Given the description of an element on the screen output the (x, y) to click on. 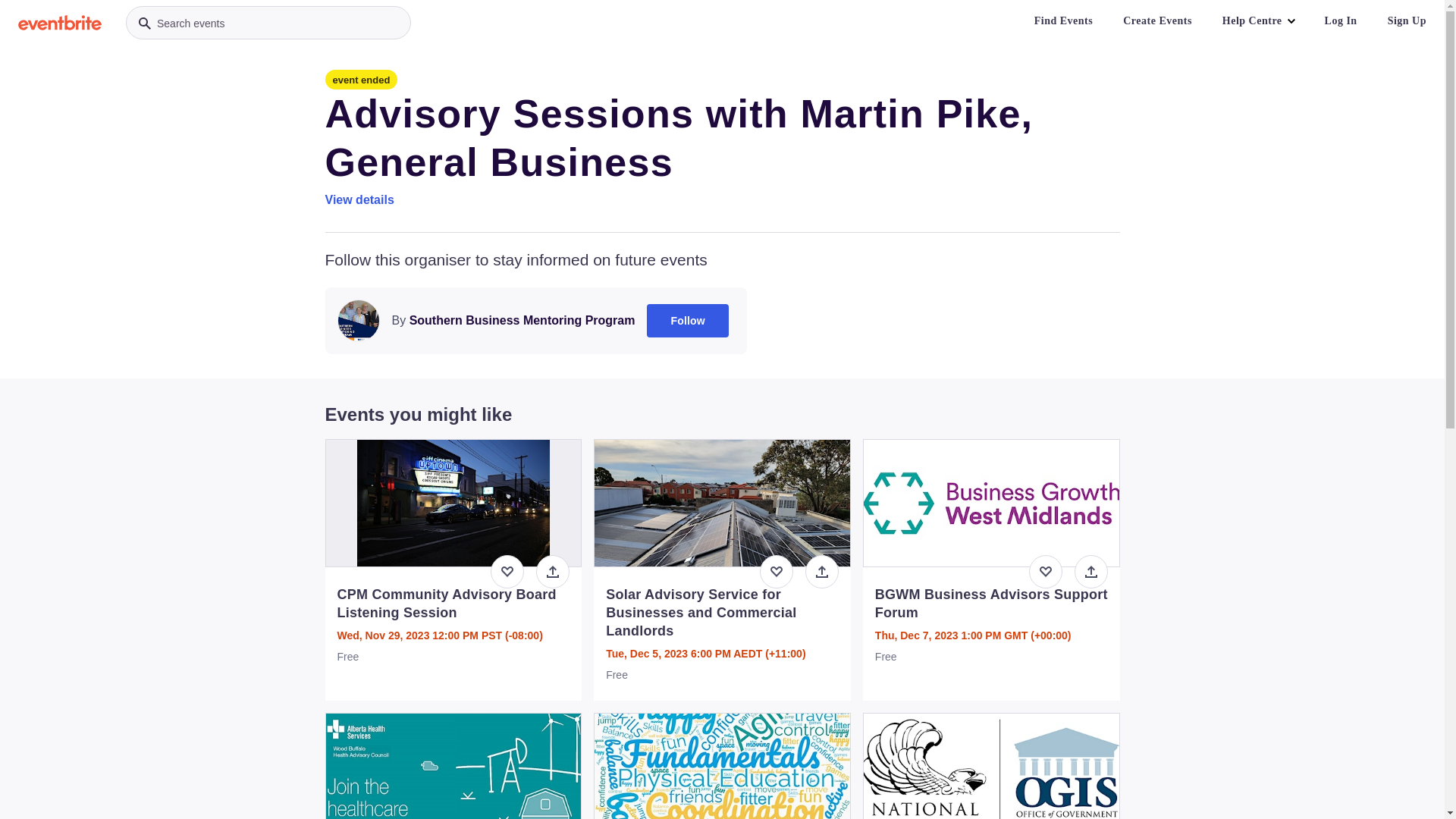
Eventbrite Element type: hover (59, 22)
View details Element type: text (358, 199)
Search events Element type: text (268, 22)
Log In Element type: text (1340, 21)
Find Events Element type: text (1063, 21)
BGWM Business Advisors Support Forum Element type: text (991, 603)
Sign Up Element type: text (1406, 21)
Follow Element type: text (687, 320)
Create Events Element type: text (1157, 21)
CPM Community Advisory Board Listening Session Element type: text (452, 603)
